Given the description of an element on the screen output the (x, y) to click on. 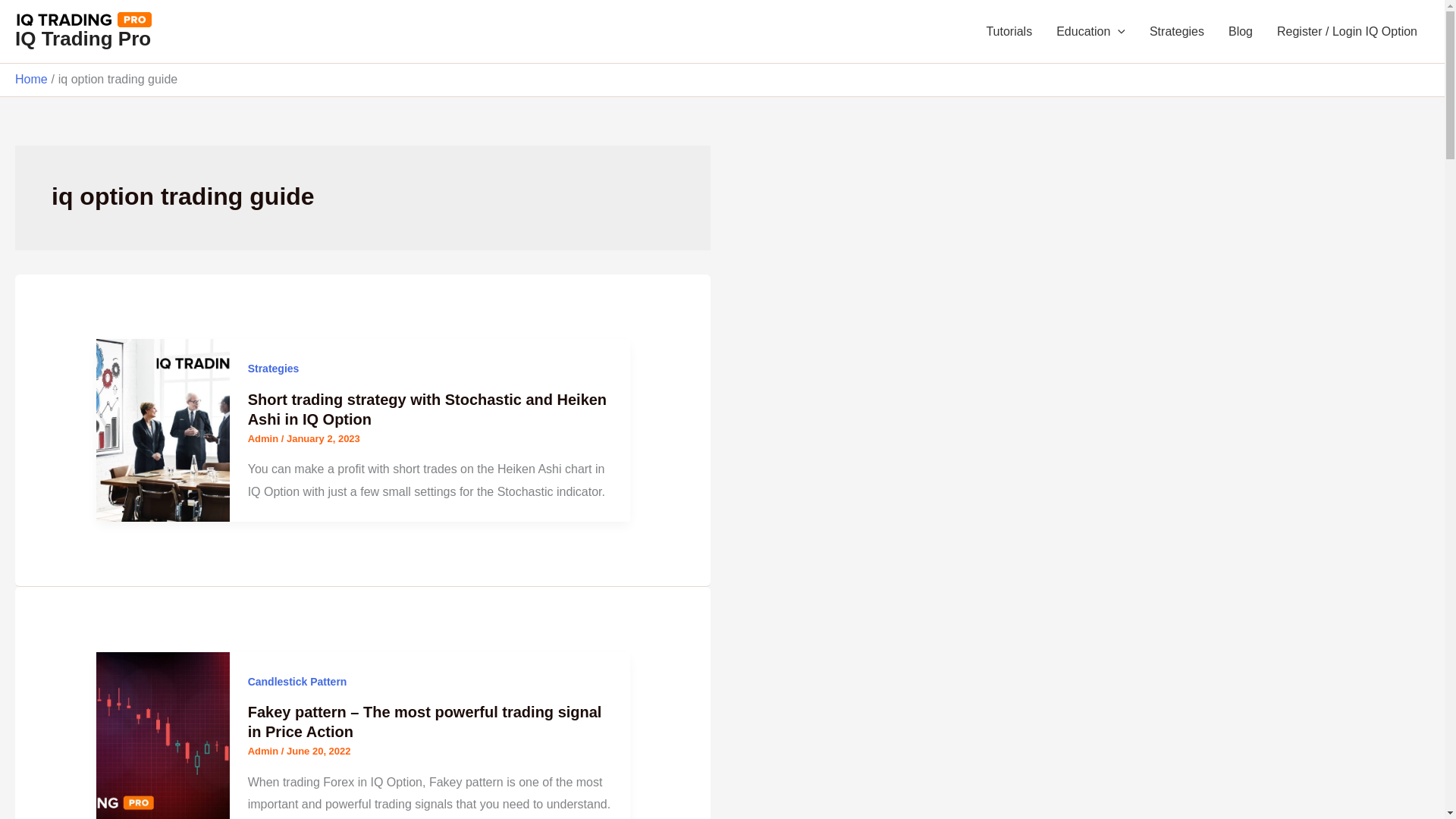
Candlestick Pattern (297, 681)
Admin (264, 438)
Tutorials (1008, 31)
Strategies (273, 368)
IQ Trading Pro (82, 38)
Admin (264, 750)
Education (1090, 31)
View all posts by Admin (264, 750)
Strategies (1176, 31)
Home (31, 78)
View all posts by Admin (264, 438)
